Given the description of an element on the screen output the (x, y) to click on. 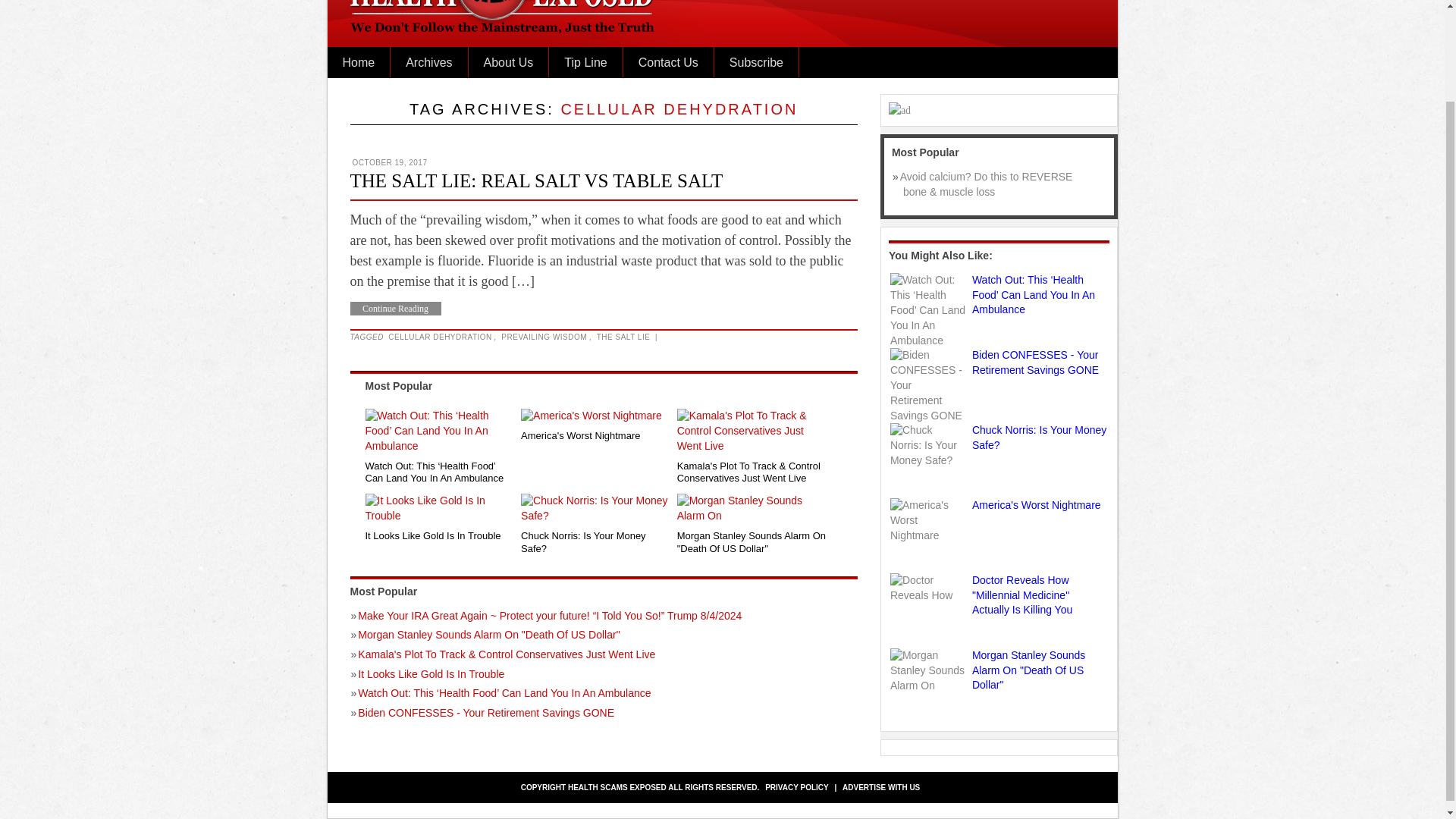
Doctor Reveals How  (927, 588)
Chuck Norris: Is Your Money Safe? (927, 445)
About Us (508, 61)
CELLULAR DEHYDRATION (440, 336)
PREVAILING WISDOM (544, 336)
Home (358, 61)
Chuck Norris: Is Your Money Safe? (596, 541)
Morgan Stanley Sounds Alarm On "Death Of US Dollar" (752, 541)
THE SALT LIE: REAL SALT VS TABLE SALT (536, 180)
Biden CONFESSES - Your Retirement Savings GONE (927, 386)
